Given the description of an element on the screen output the (x, y) to click on. 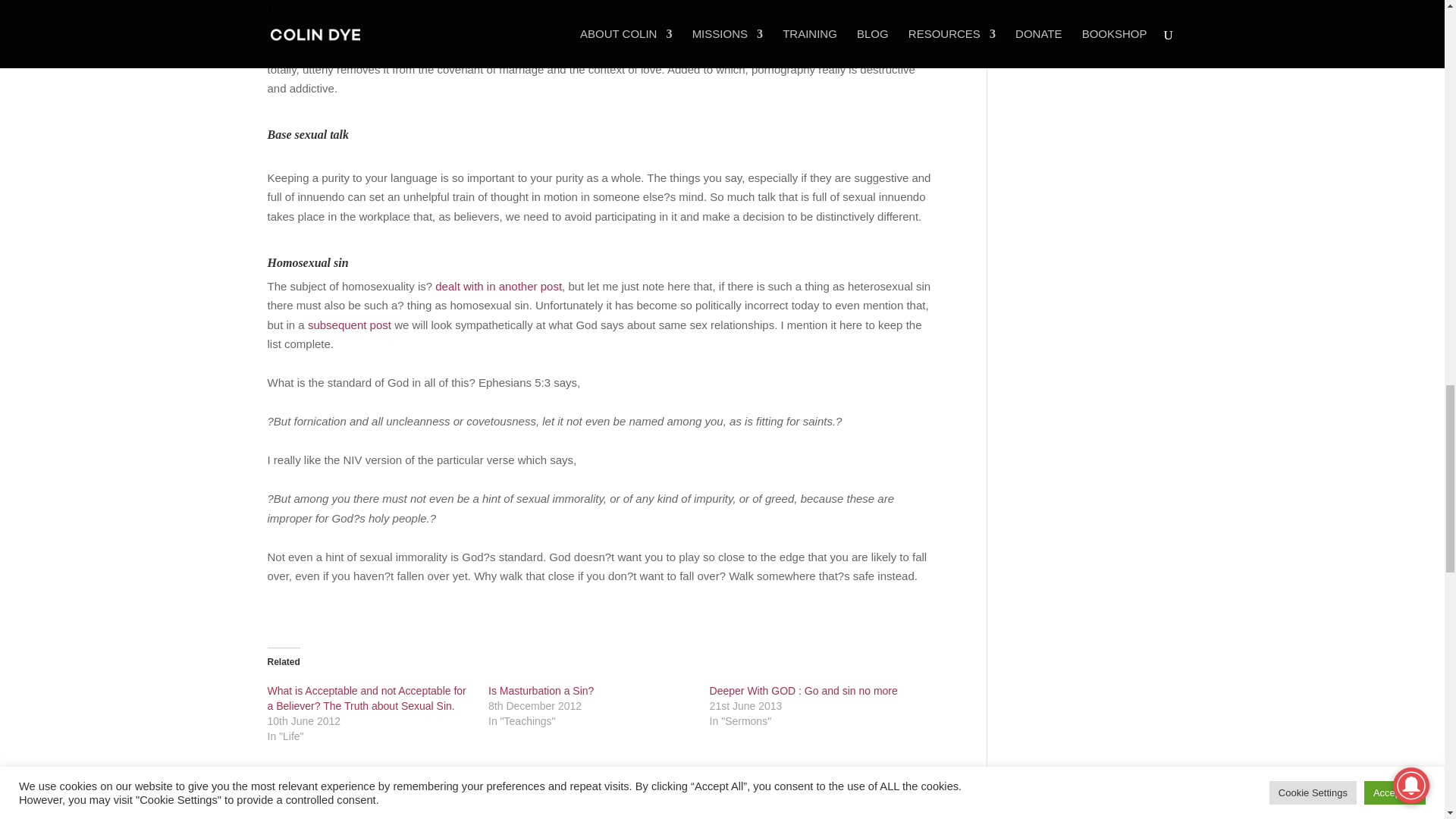
Is Masturbation a Sin? (540, 689)
Deeper With GOD : Go and sin no more (804, 689)
